Given the description of an element on the screen output the (x, y) to click on. 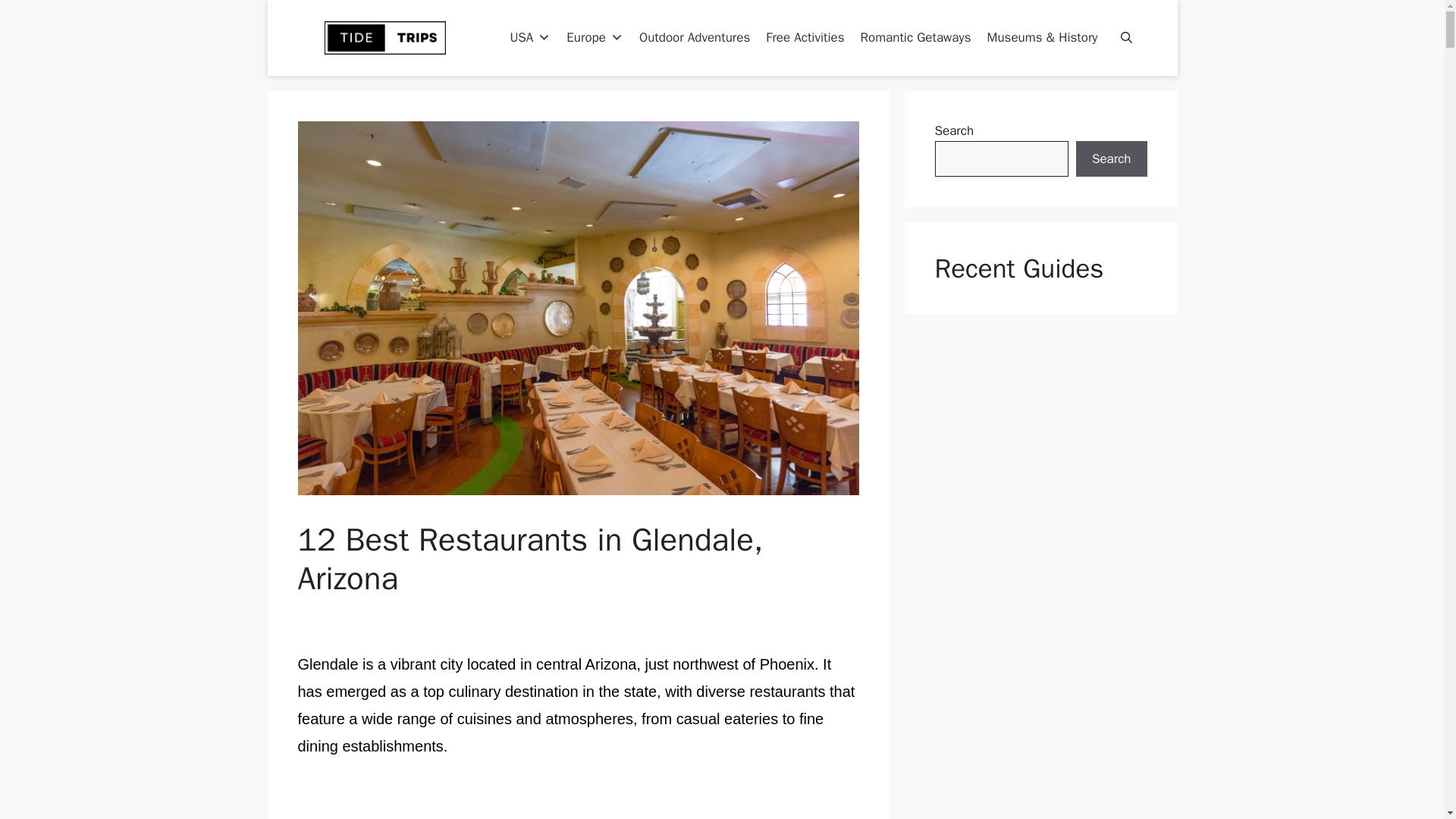
Advertisement (578, 800)
USA (529, 37)
